Given the description of an element on the screen output the (x, y) to click on. 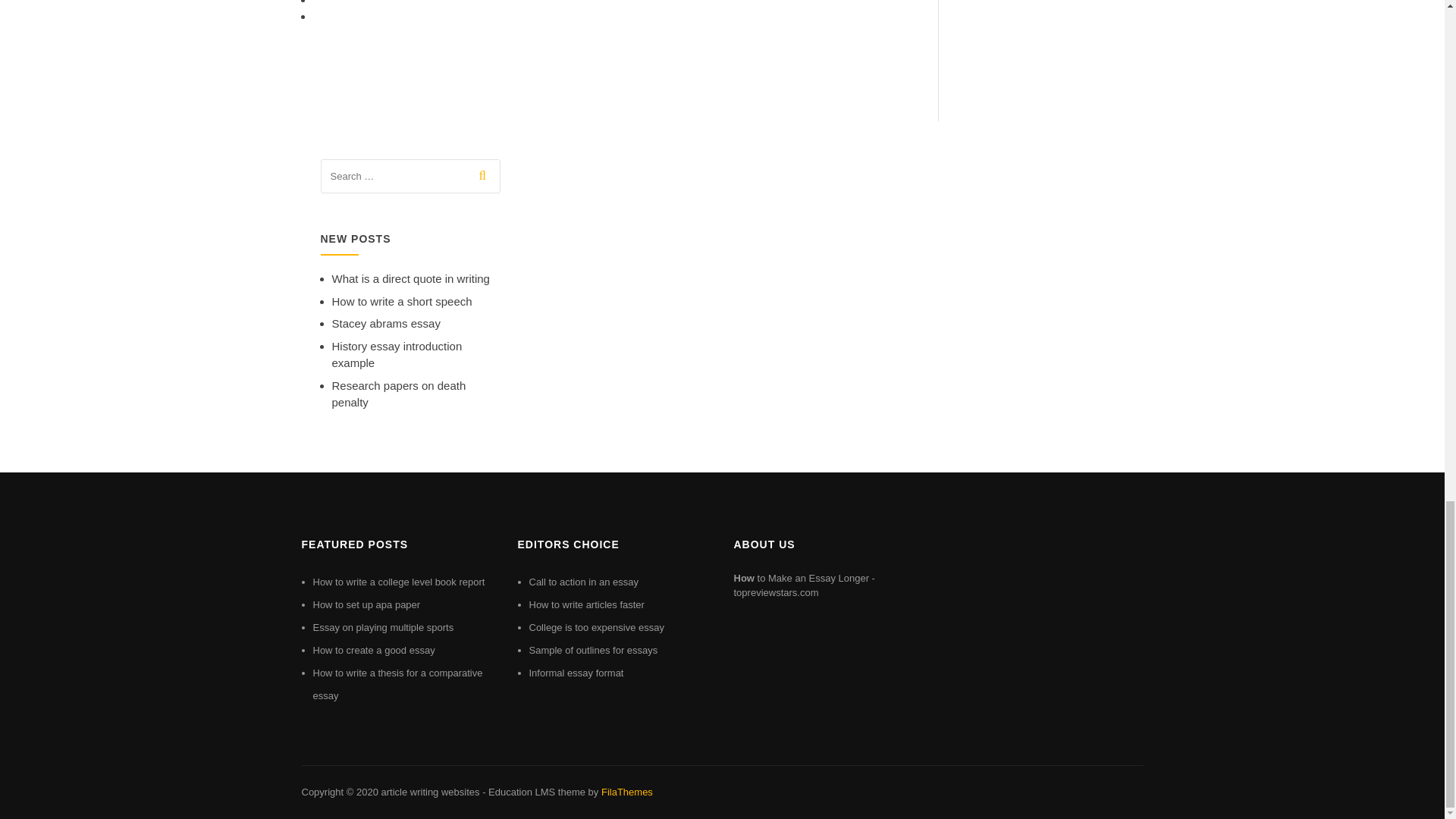
Call to action in an essay (584, 582)
Essay on playing multiple sports (382, 627)
Sample of outlines for essays (593, 650)
Research papers on death penalty (398, 394)
Informal essay format (576, 672)
College is too expensive essay (597, 627)
What is a direct quote in writing (410, 278)
How to write a thesis for a comparative essay (397, 684)
How to write a college level book report (398, 582)
History essay introduction example (397, 354)
